Given the description of an element on the screen output the (x, y) to click on. 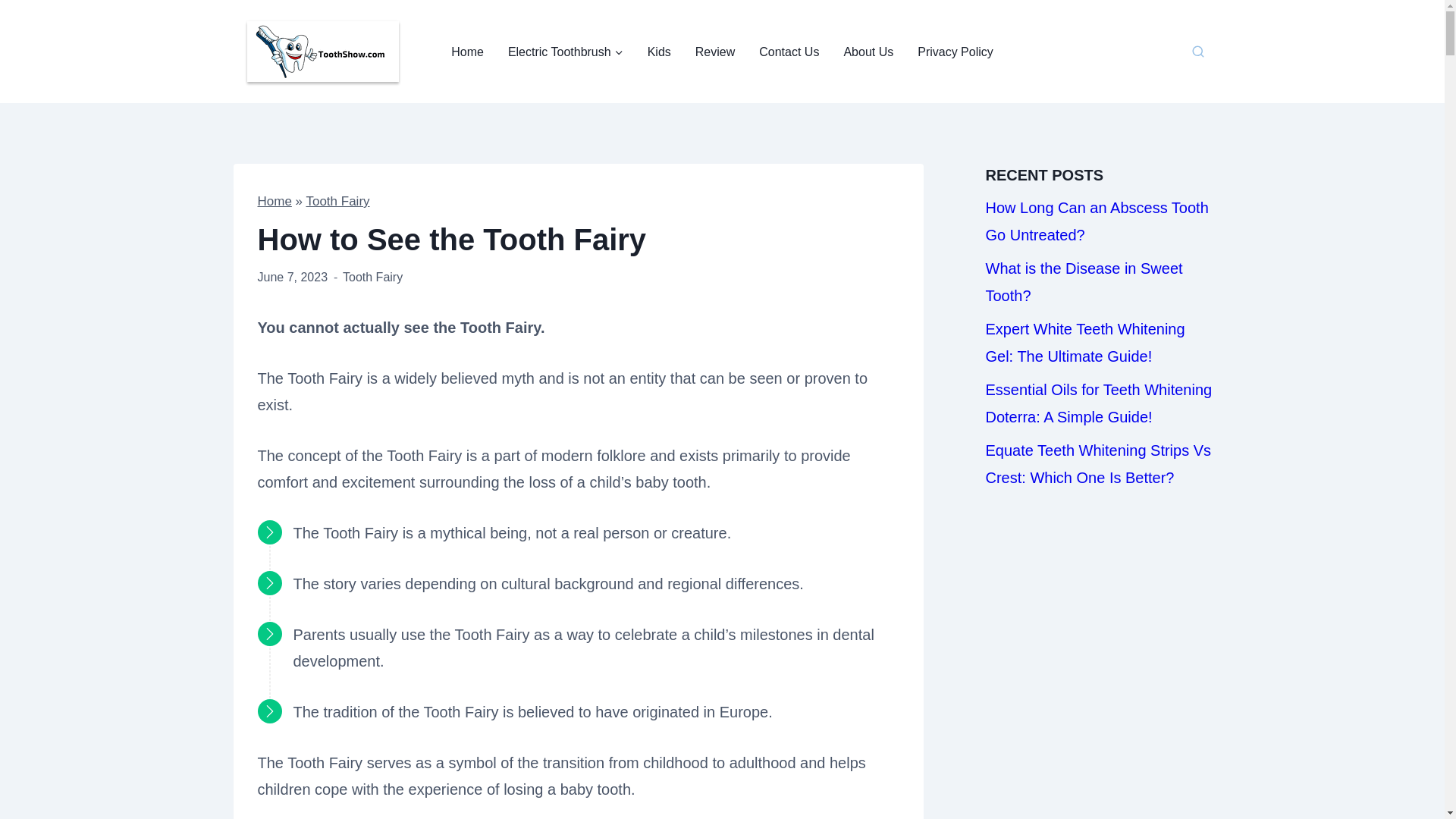
Electric Toothbrush (565, 51)
Home (274, 201)
About Us (868, 51)
Tooth Fairy (337, 201)
Home (467, 51)
Tooth Fairy (372, 277)
Contact Us (788, 51)
Kids (658, 51)
Review (714, 51)
Privacy Policy (955, 51)
